Given the description of an element on the screen output the (x, y) to click on. 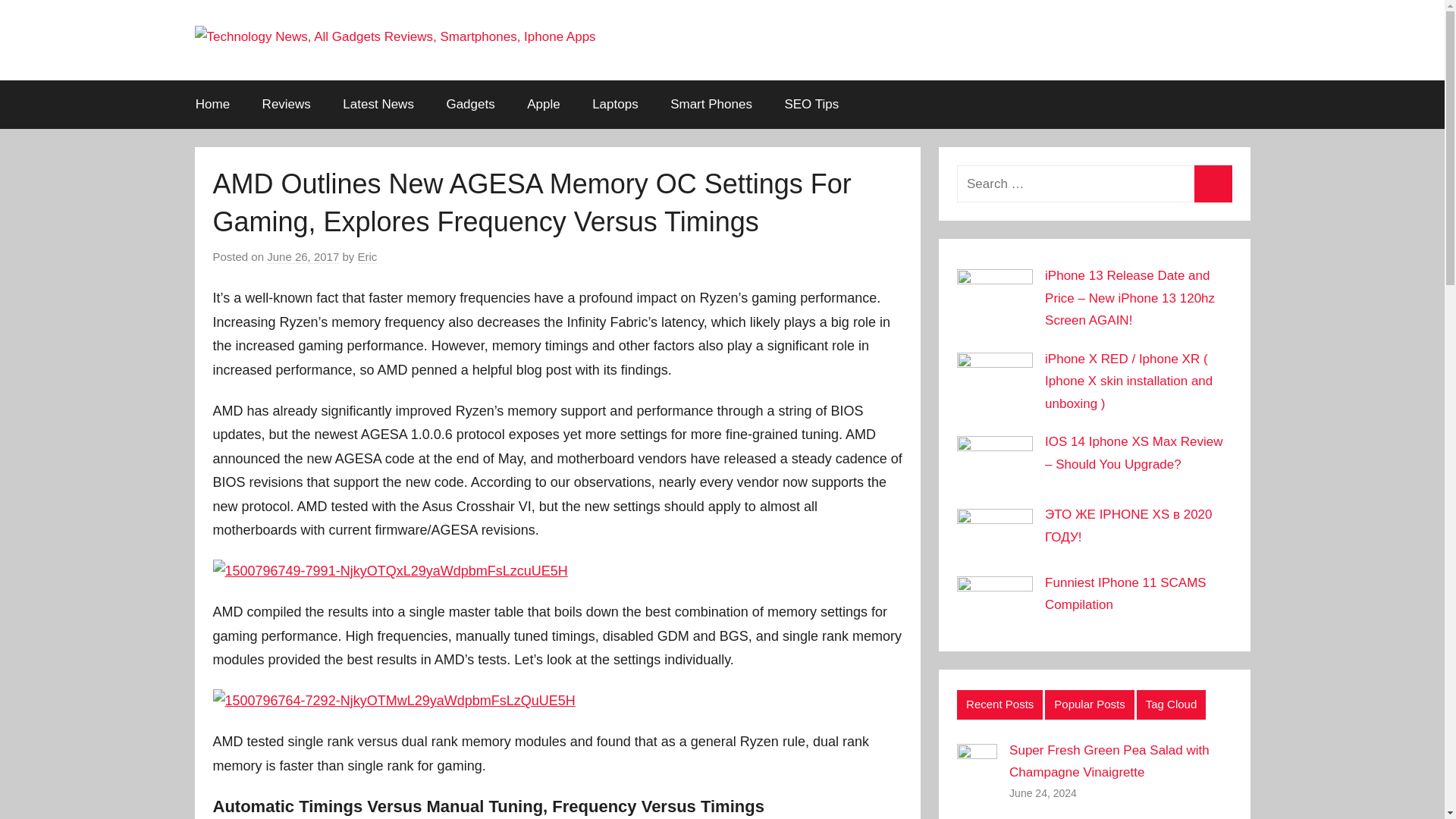
Laptops (614, 104)
Smart Phones (710, 104)
Eric (367, 256)
Gadgets (470, 104)
Home (212, 104)
Super Fresh Green Pea Salad with Champagne Vinaigrette (1109, 761)
Funniest IPhone 11 SCAMS Compilation (1126, 592)
Tag Cloud (1172, 704)
June 26, 2017 (302, 256)
View all posts by Eric (367, 256)
Search for: (1093, 183)
Funniest IPhone 11 SCAMS Compilation (1126, 592)
Latest News (377, 104)
Recent Posts (999, 704)
